Given the description of an element on the screen output the (x, y) to click on. 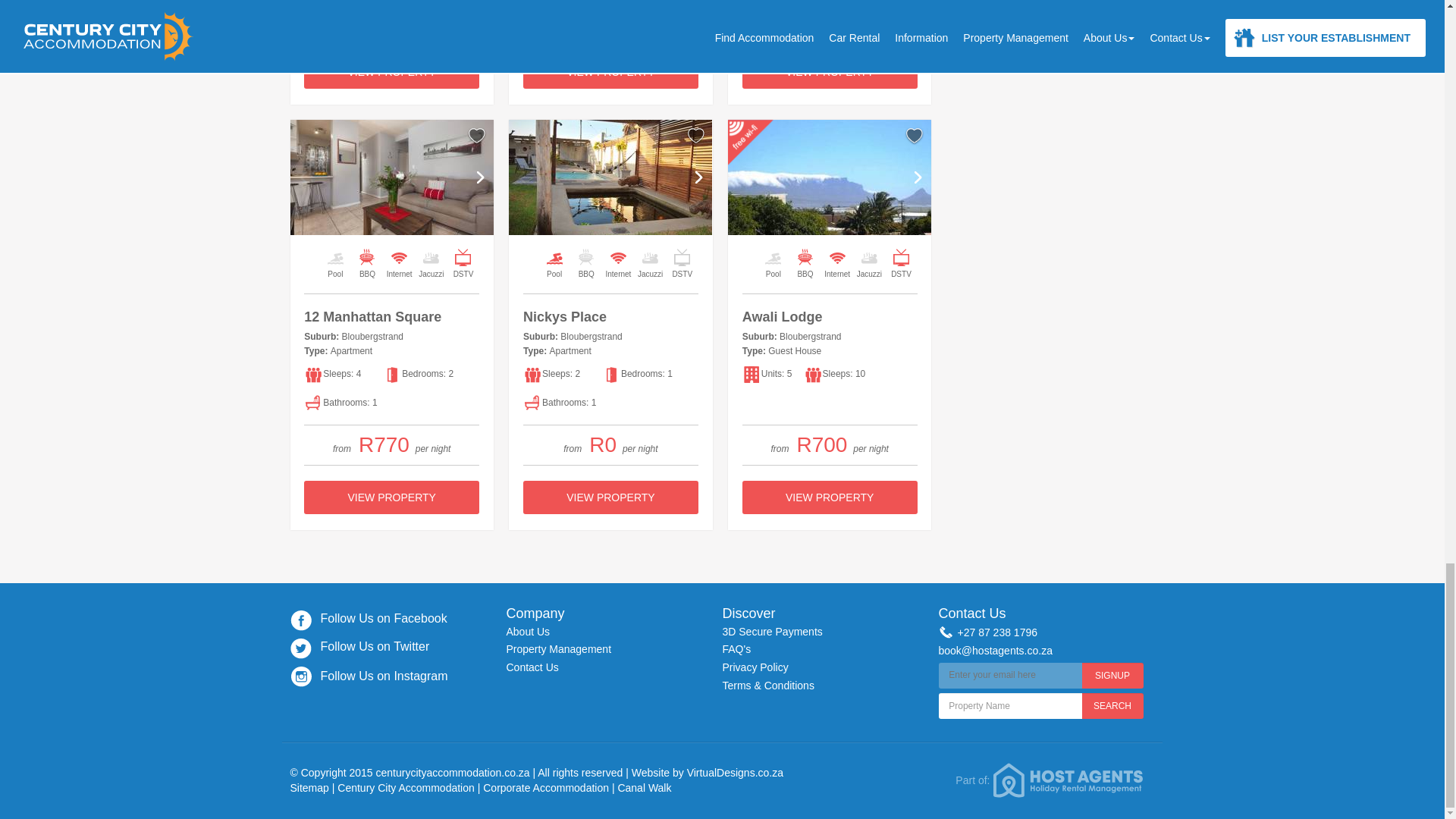
add to favourites (476, 135)
add to favourites (695, 135)
SIGNUP (1111, 675)
SEARCH (1111, 705)
add to favourites (914, 135)
